Given the description of an element on the screen output the (x, y) to click on. 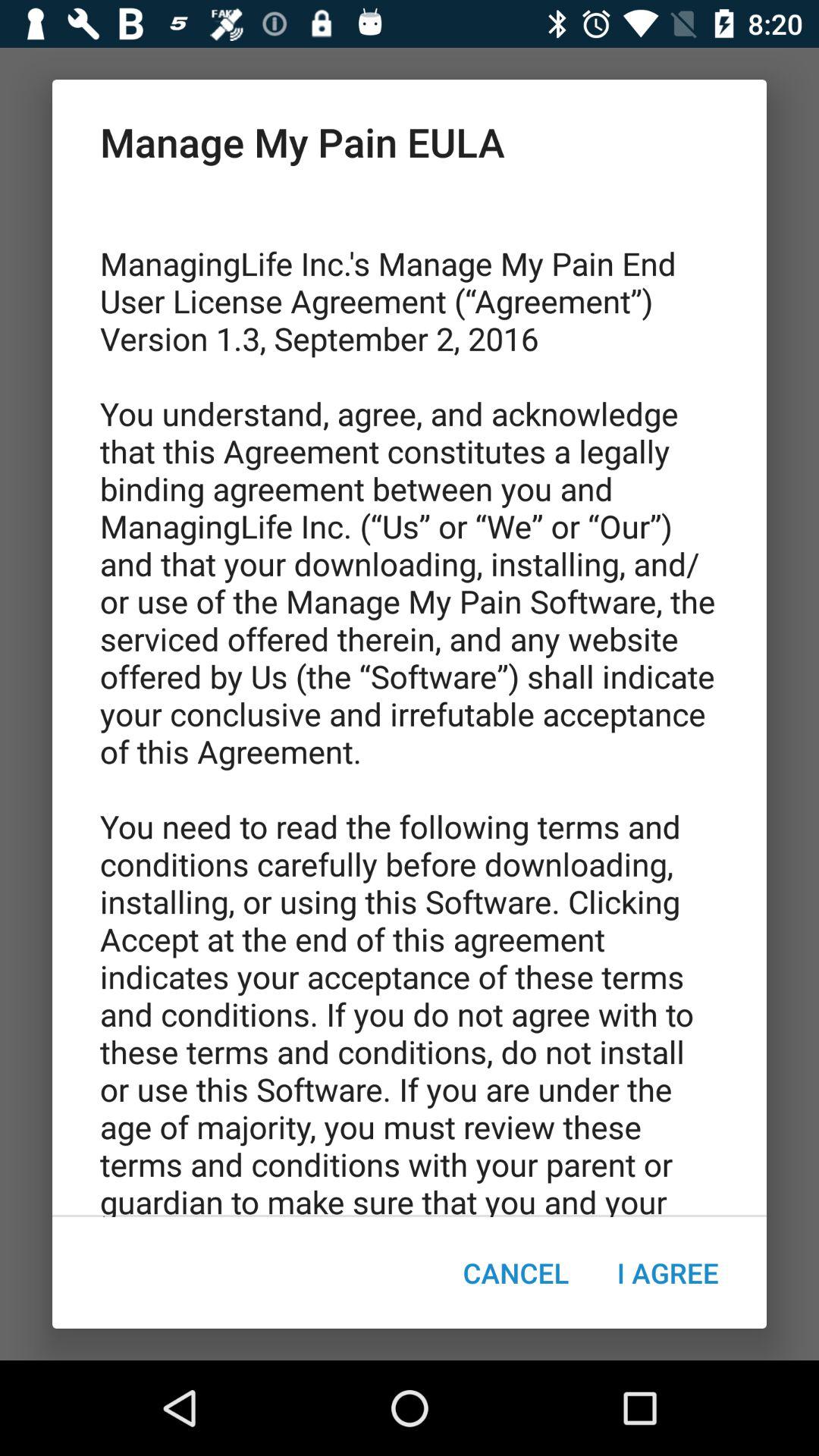
select icon at the bottom (516, 1272)
